Given the description of an element on the screen output the (x, y) to click on. 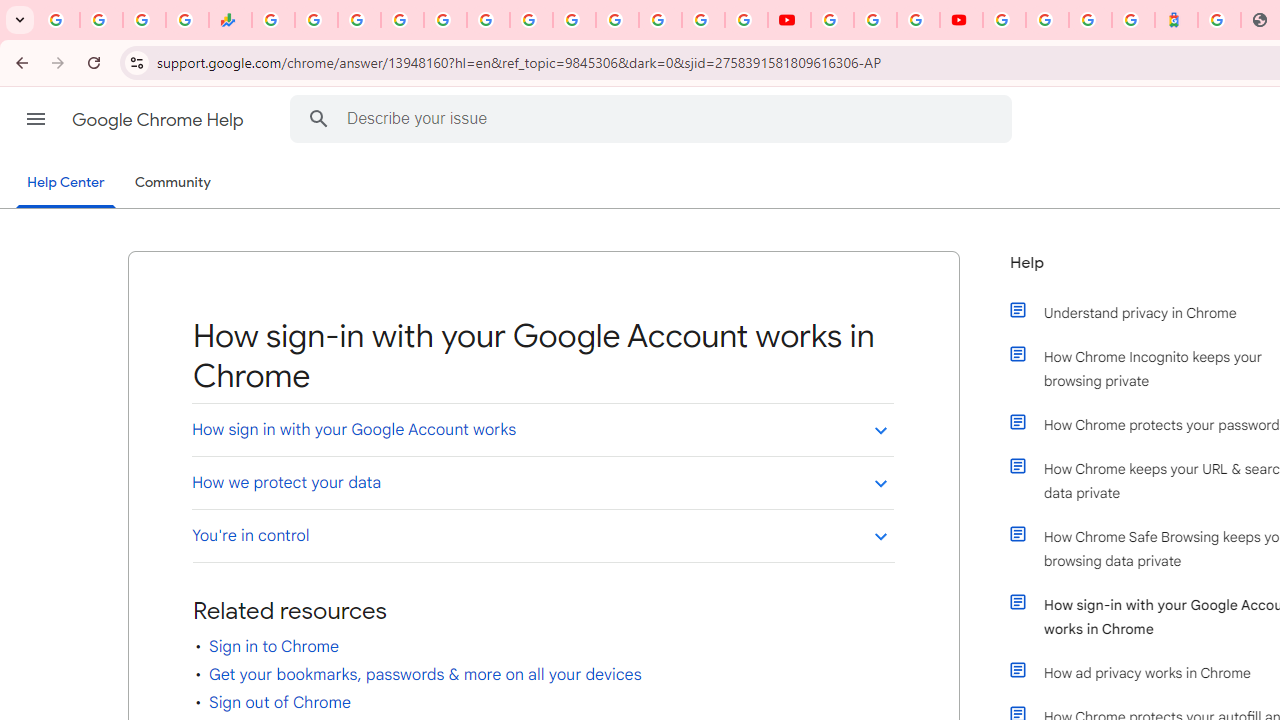
Main menu (35, 119)
YouTube (574, 20)
Sign in to Chrome (274, 646)
Privacy Checkup (745, 20)
Get your bookmarks, passwords & more on all your devices (425, 674)
Google Workspace Admin Community (58, 20)
How sign in with your Google Account works (542, 429)
Google Account Help (875, 20)
